Given the description of an element on the screen output the (x, y) to click on. 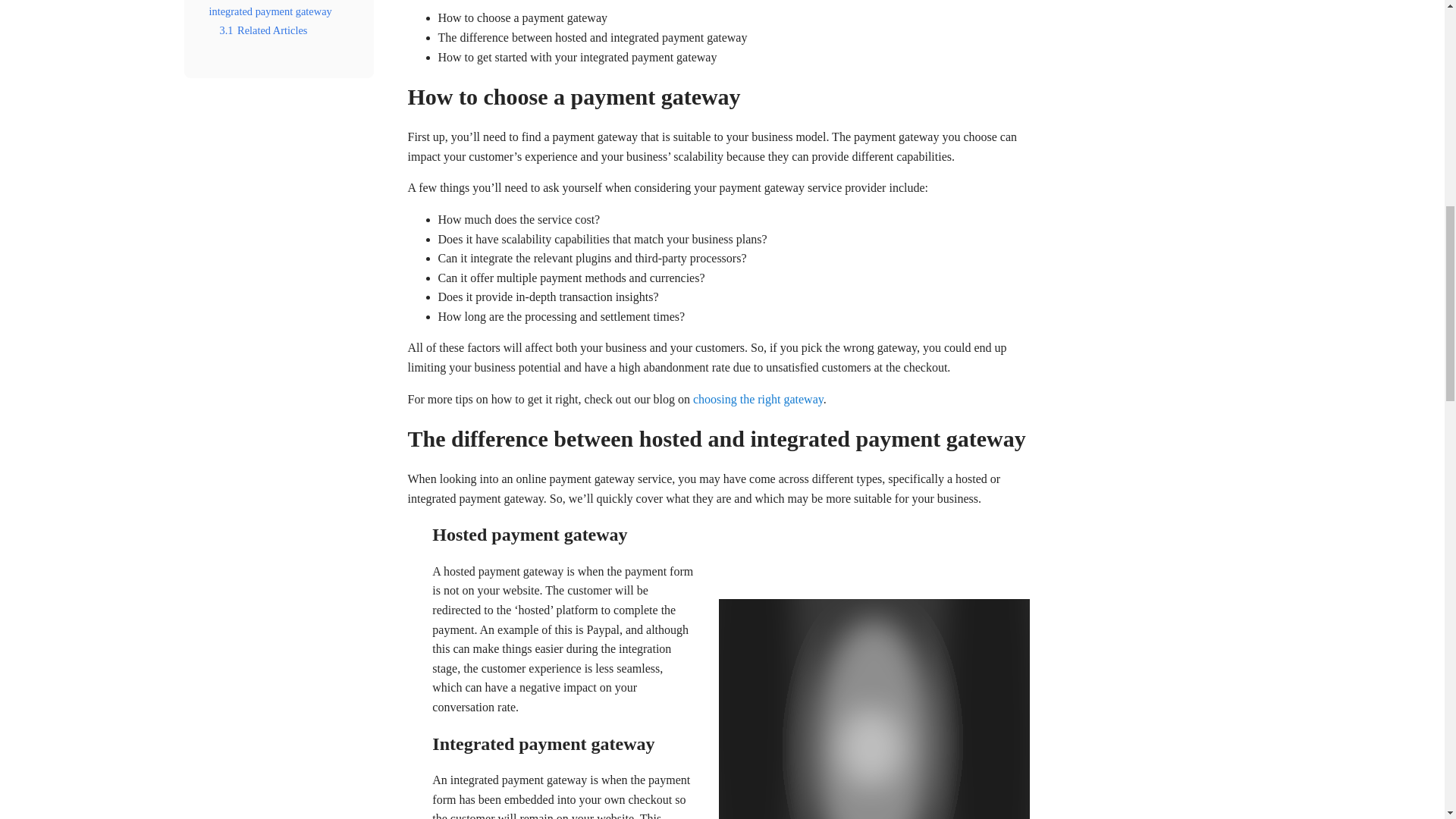
3 How to get started with your integrated payment gateway (276, 8)
3.1 Related Articles (263, 30)
